Given the description of an element on the screen output the (x, y) to click on. 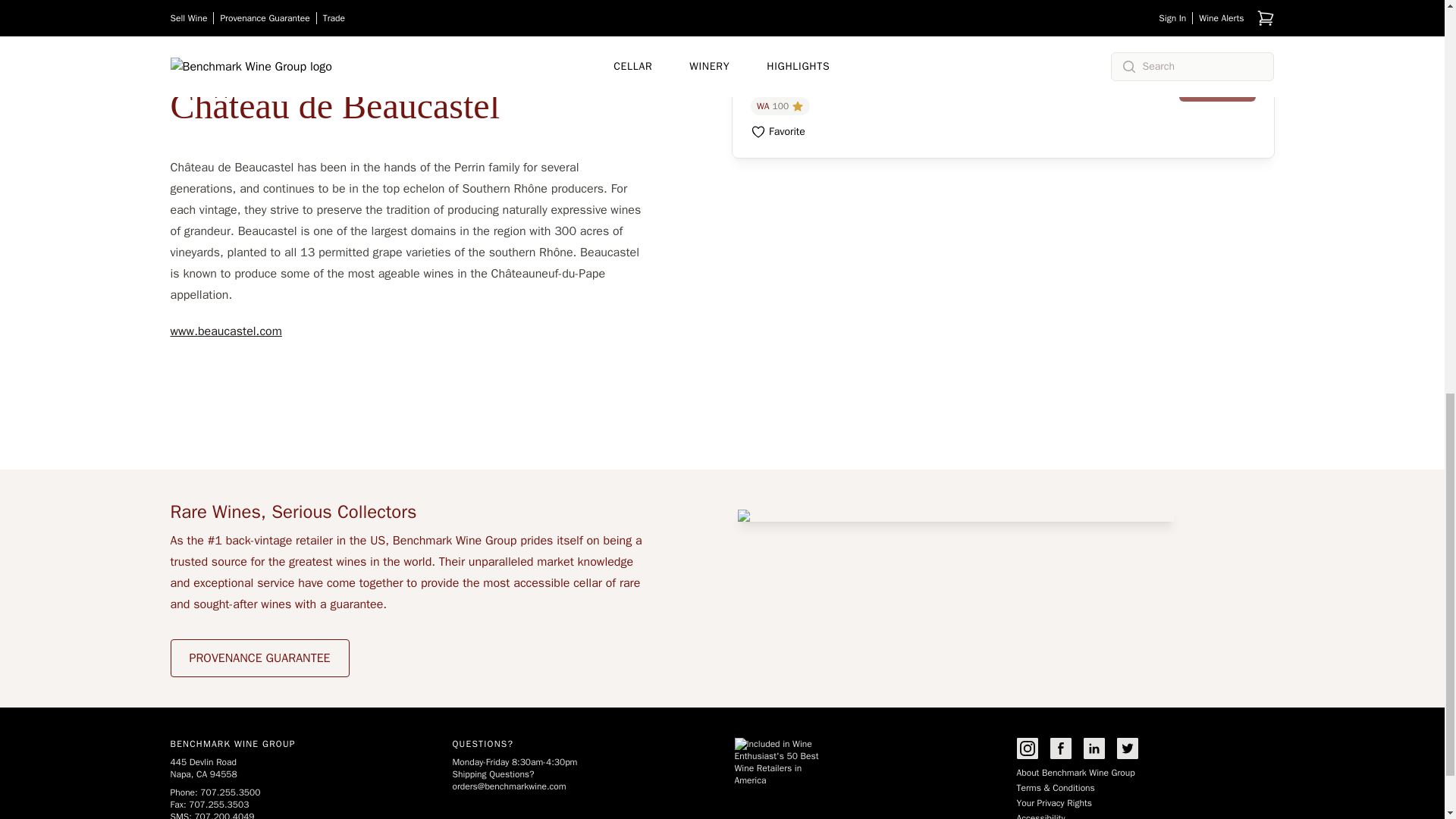
The Wine Advocate (780, 106)
Facebook Page (1059, 748)
Add to cart (1217, 86)
Twitter Profile (1126, 748)
PROVENANCE GUARANTEE (259, 658)
www.beaucastel.com (225, 331)
Instagram Profile (1026, 748)
Accessibility (1040, 815)
Guigal Cote Rotie La Mouline 1991 (867, 57)
About Benchmark Wine Group (1075, 772)
Favorite (778, 131)
Your Privacy Rights (1053, 802)
LinkedIn Company Page (1093, 748)
